Given the description of an element on the screen output the (x, y) to click on. 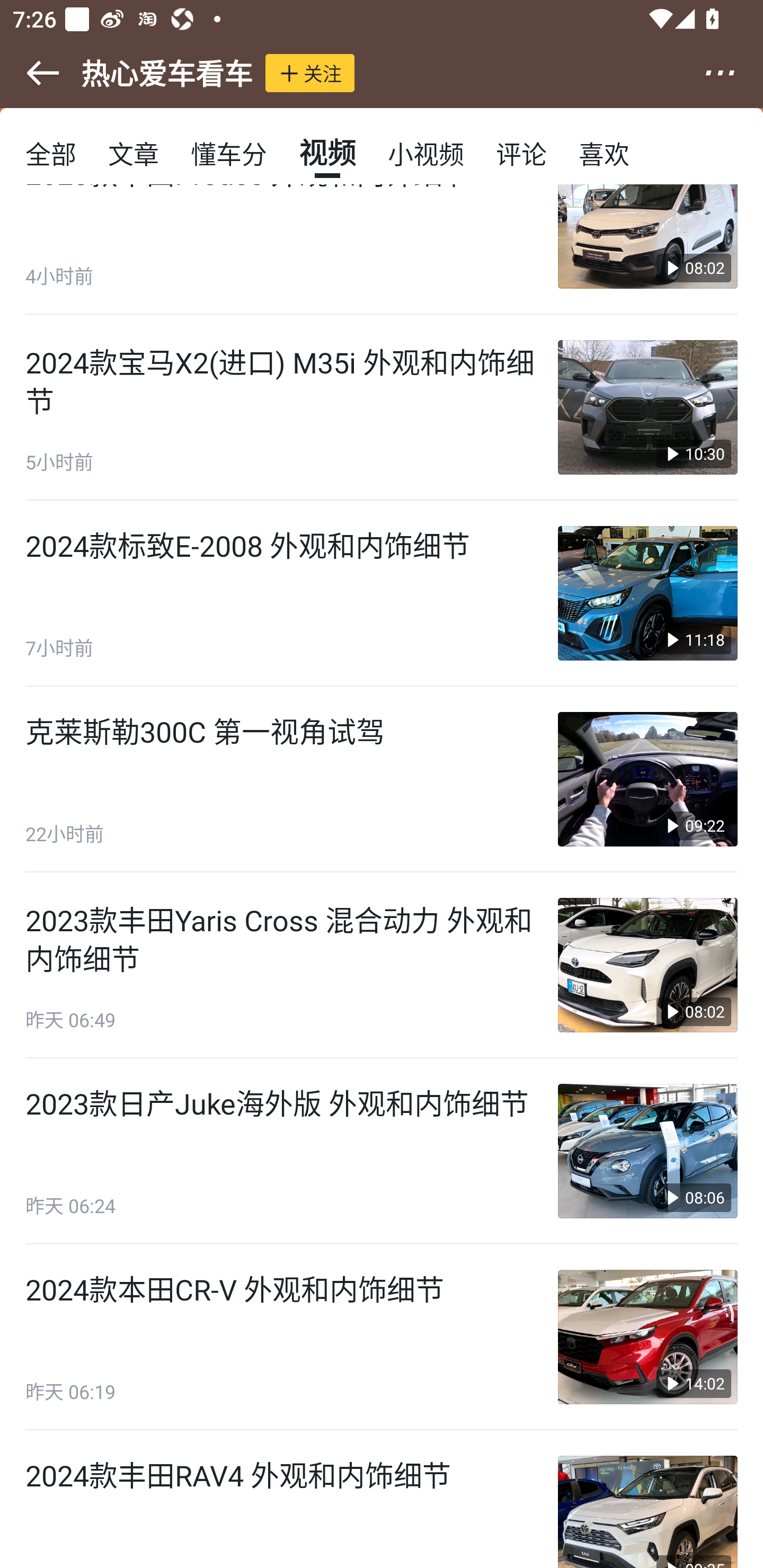
 (30, 72)
 (732, 72)
 关注 (309, 72)
全部 (50, 152)
文章 (133, 152)
懂车分 (228, 152)
视频 (327, 152)
小视频 (425, 152)
评论 (521, 152)
喜欢 (603, 152)
2023款丰田Proace 外观和内饰细节 4小时前  08:02 (381, 250)
2024款宝马X2(进口) M35i 外观和内饰细节 5小时前  10:30 (381, 407)
2024款标致E-2008 外观和内饰细节 7小时前  11:18 (381, 593)
克莱斯勒300C 第一视角试驾 22小时前  09:22 (381, 778)
2023款丰田Yaris Cross 混合动力 外观和内饰细节 昨天 06:49  08:02 (381, 964)
2023款日产Juke海外版 外观和内饰细节 昨天 06:24  08:06 (381, 1151)
2024款本田CR-V 外观和内饰细节 昨天 06:19  14:02 (381, 1337)
2024款丰田RAV4 外观和内饰细节 昨天 06:00  09:35 (381, 1499)
